Given the description of an element on the screen output the (x, y) to click on. 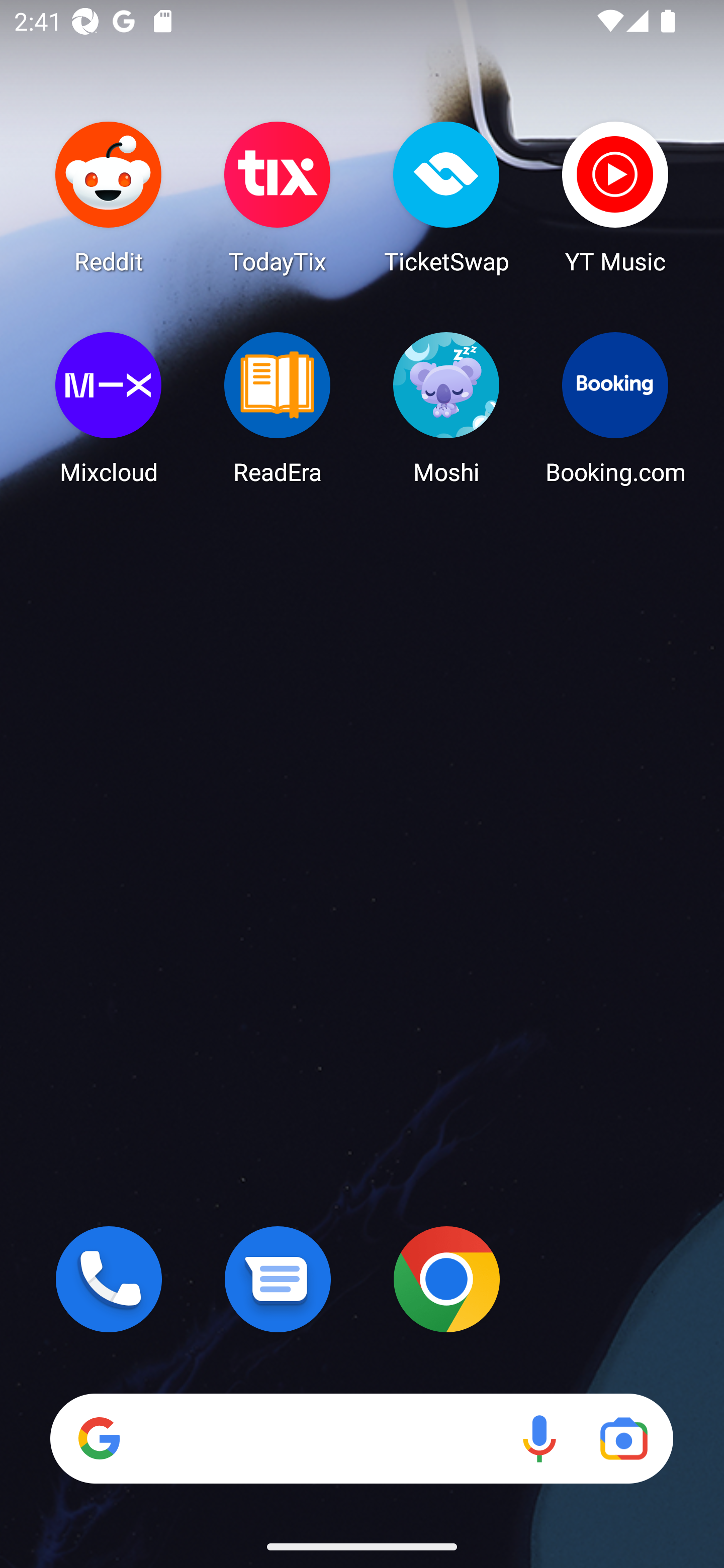
Reddit (108, 196)
TodayTix (277, 196)
TicketSwap (445, 196)
YT Music (615, 196)
Mixcloud (108, 407)
ReadEra (277, 407)
Moshi (445, 407)
Booking.com (615, 407)
Phone (108, 1279)
Messages (277, 1279)
Chrome (446, 1279)
Search Voice search Google Lens (361, 1438)
Voice search (539, 1438)
Google Lens (623, 1438)
